Given the description of an element on the screen output the (x, y) to click on. 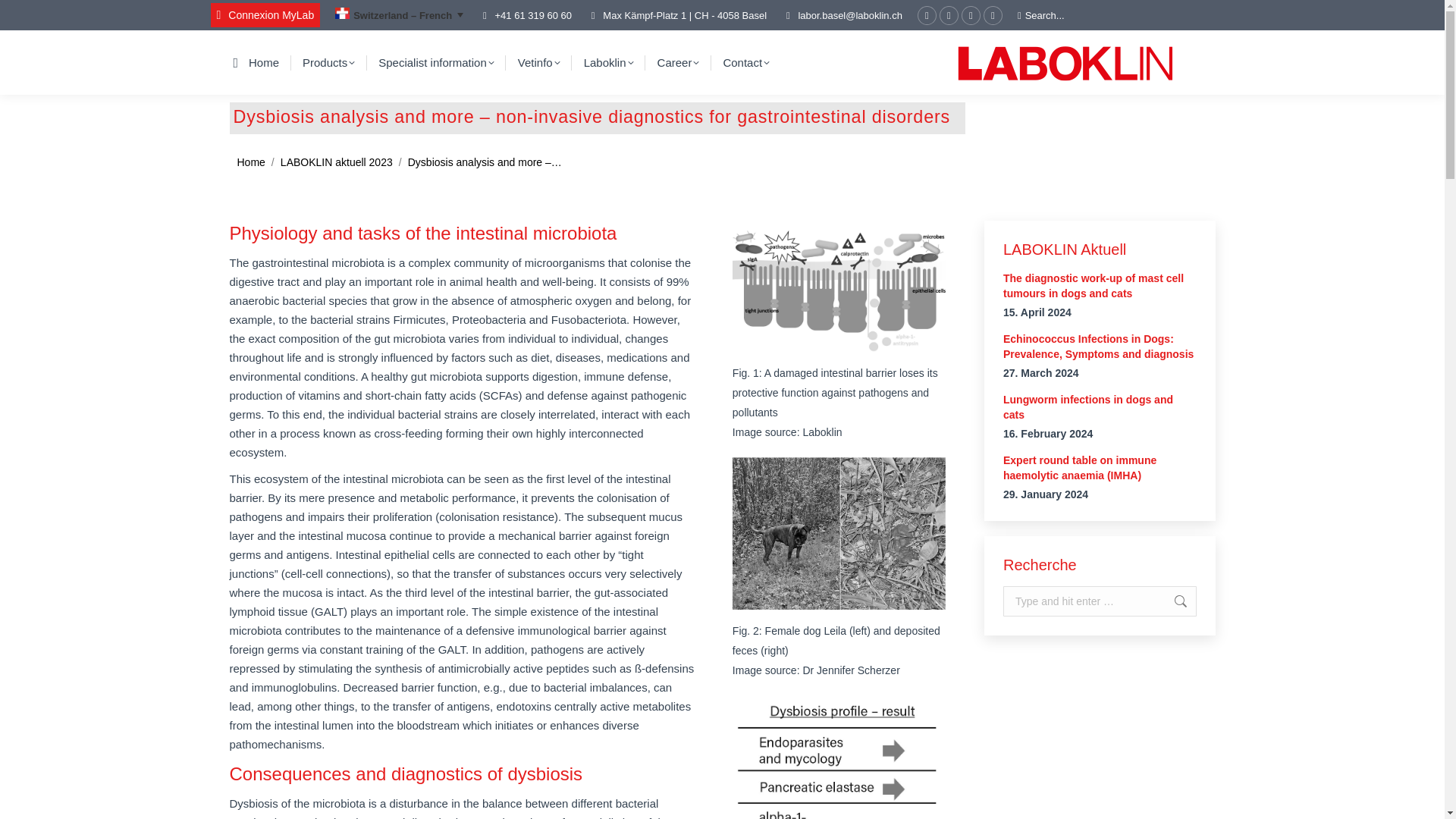
Search... (1040, 14)
Linkedin page opens in new window (993, 15)
YouTube page opens in new window (948, 15)
Go! (1164, 601)
Facebook page opens in new window (926, 15)
Go! (32, 15)
Facebook page opens in new window (926, 15)
Instagram page opens in new window (969, 15)
Connexion MyLab (265, 15)
Linkedin page opens in new window (993, 15)
